Given the description of an element on the screen output the (x, y) to click on. 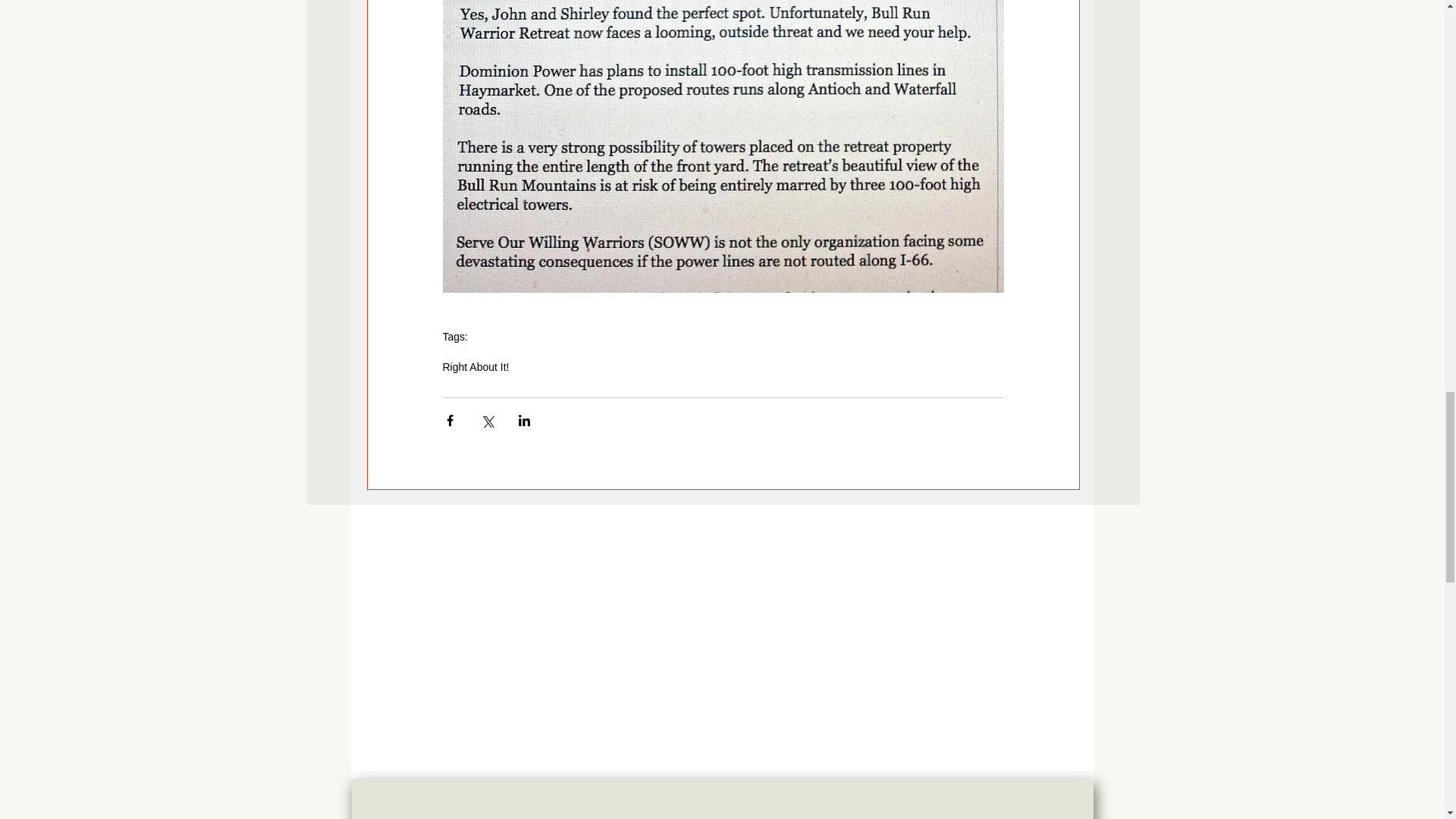
Right About It! (475, 367)
